Given the description of an element on the screen output the (x, y) to click on. 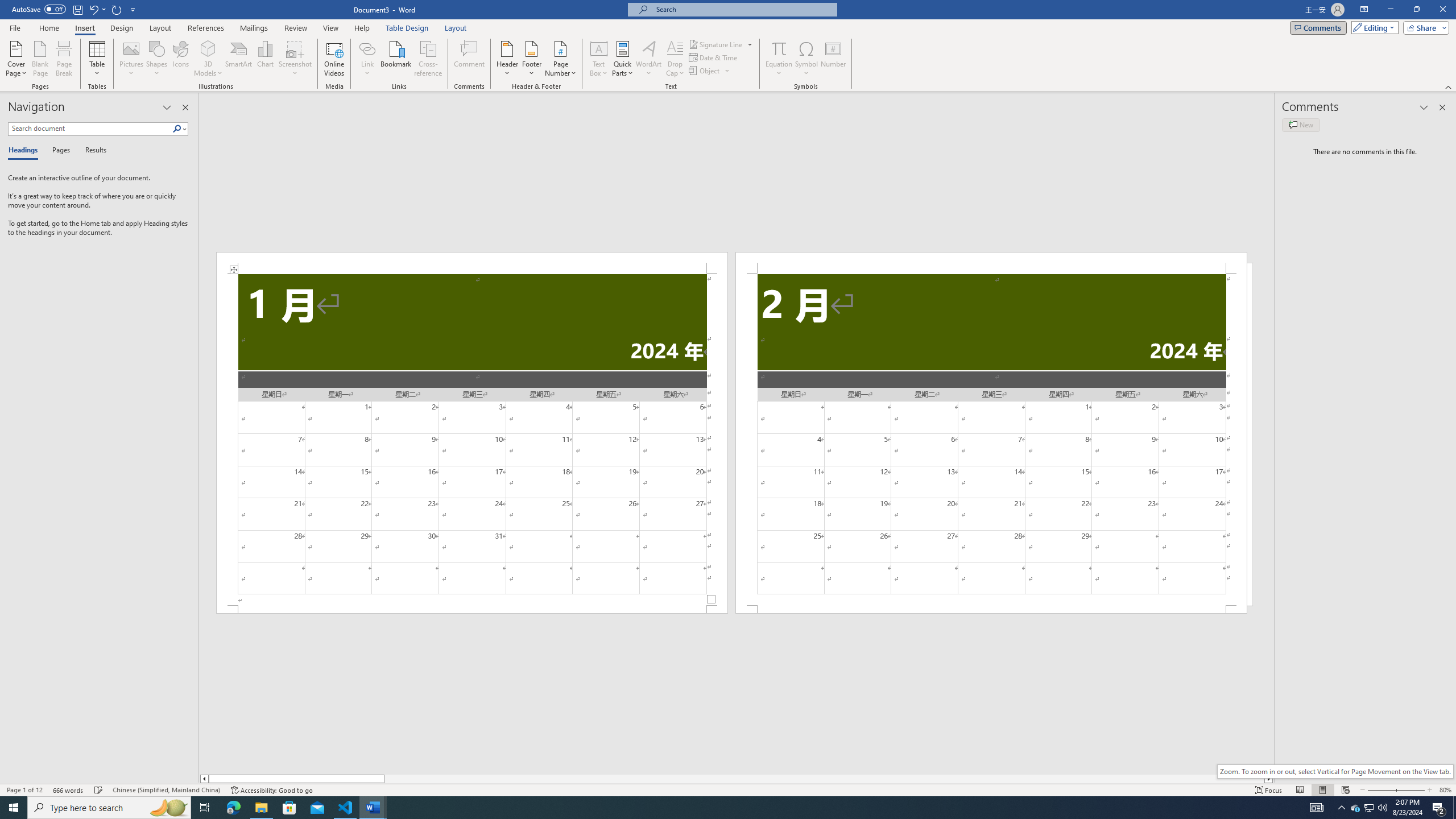
Word Count 666 words (68, 790)
Equation (778, 58)
3D Models (208, 48)
